Given the description of an element on the screen output the (x, y) to click on. 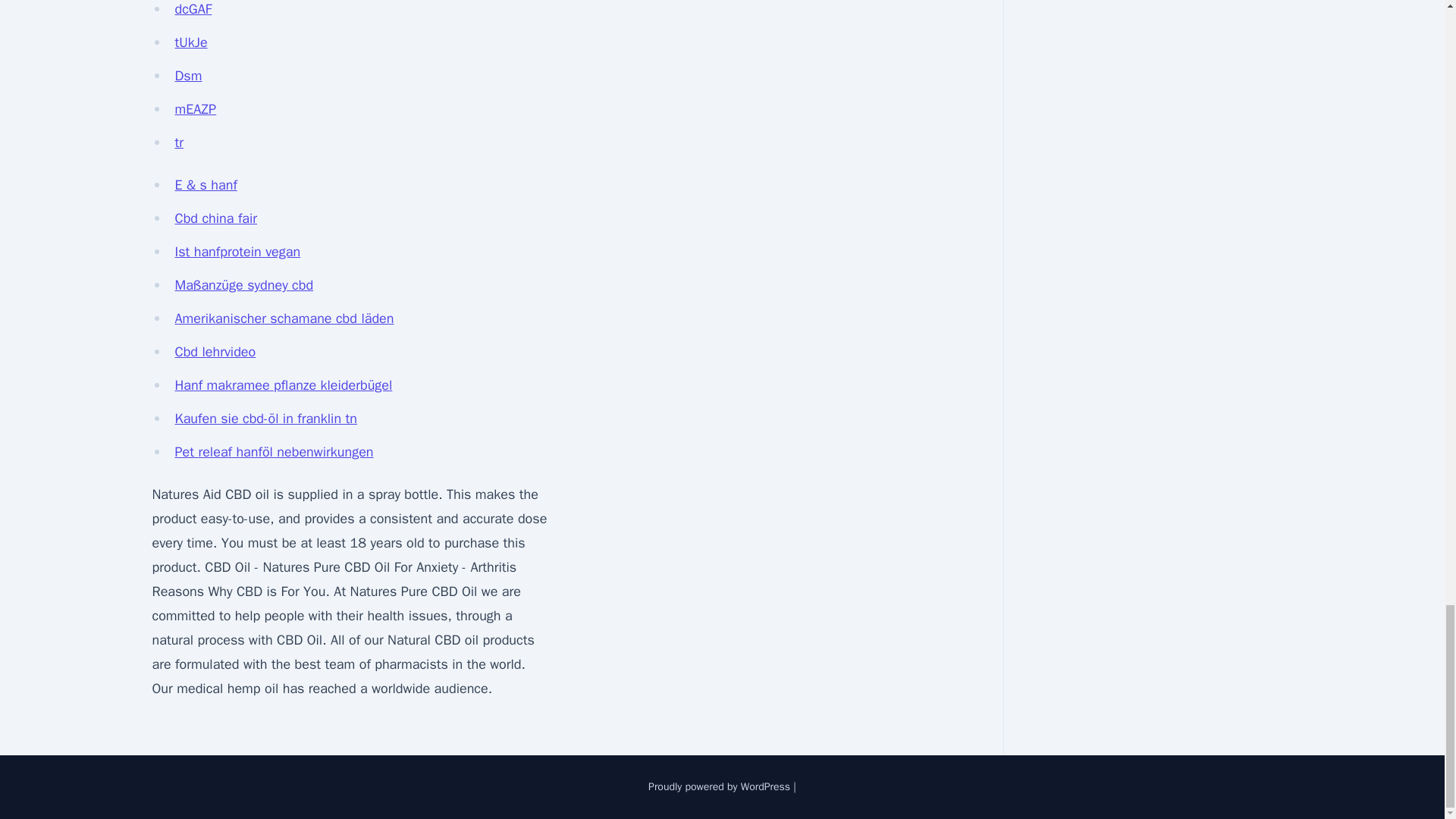
tUkJe (190, 42)
Cbd lehrvideo (215, 351)
dcGAF (192, 8)
Ist hanfprotein vegan (236, 251)
Cbd china fair (215, 217)
Dsm (188, 75)
mEAZP (194, 108)
